Given the description of an element on the screen output the (x, y) to click on. 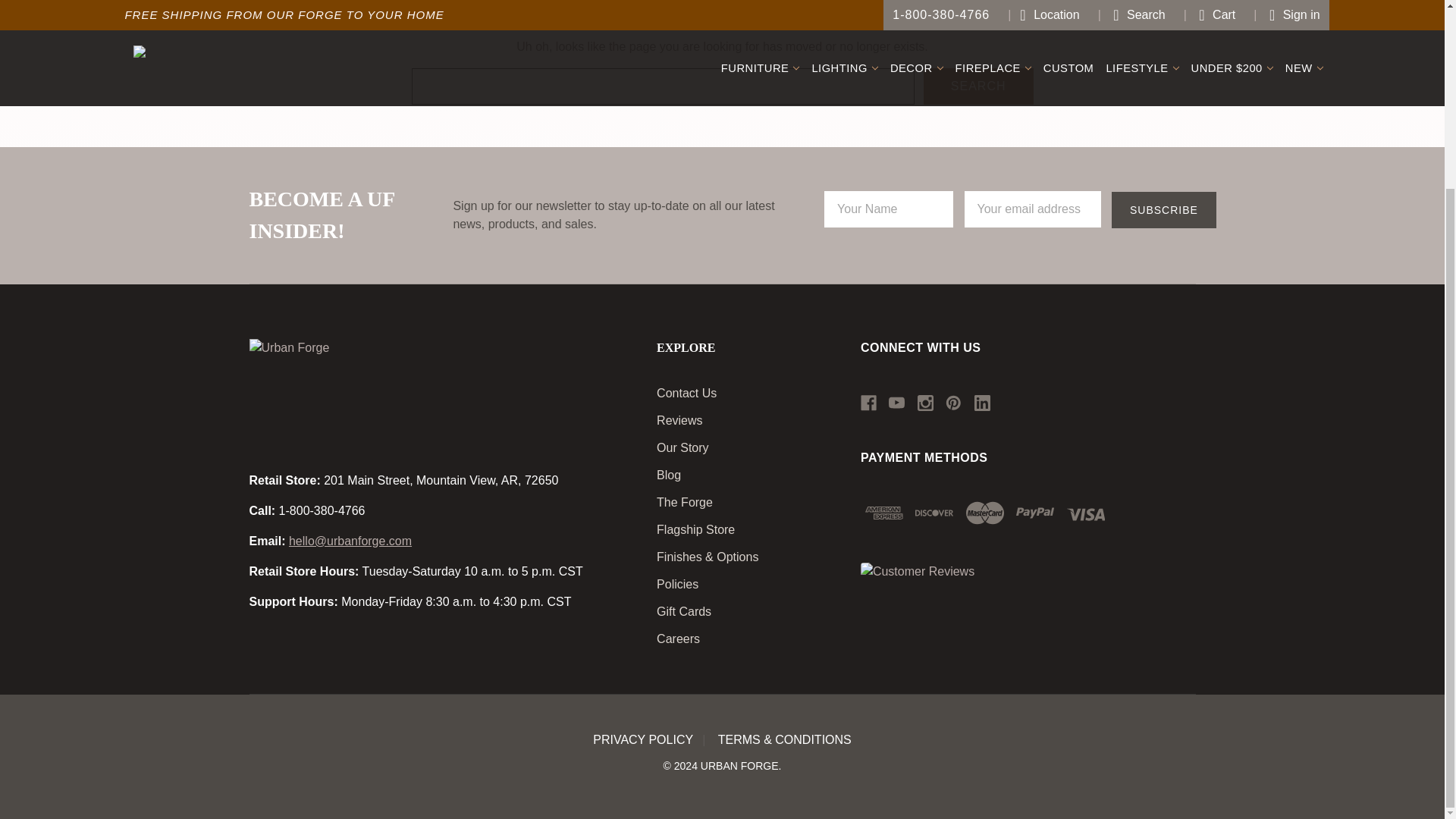
Search (978, 85)
Urban Forge (299, 390)
Subscribe (1163, 209)
